Given the description of an element on the screen output the (x, y) to click on. 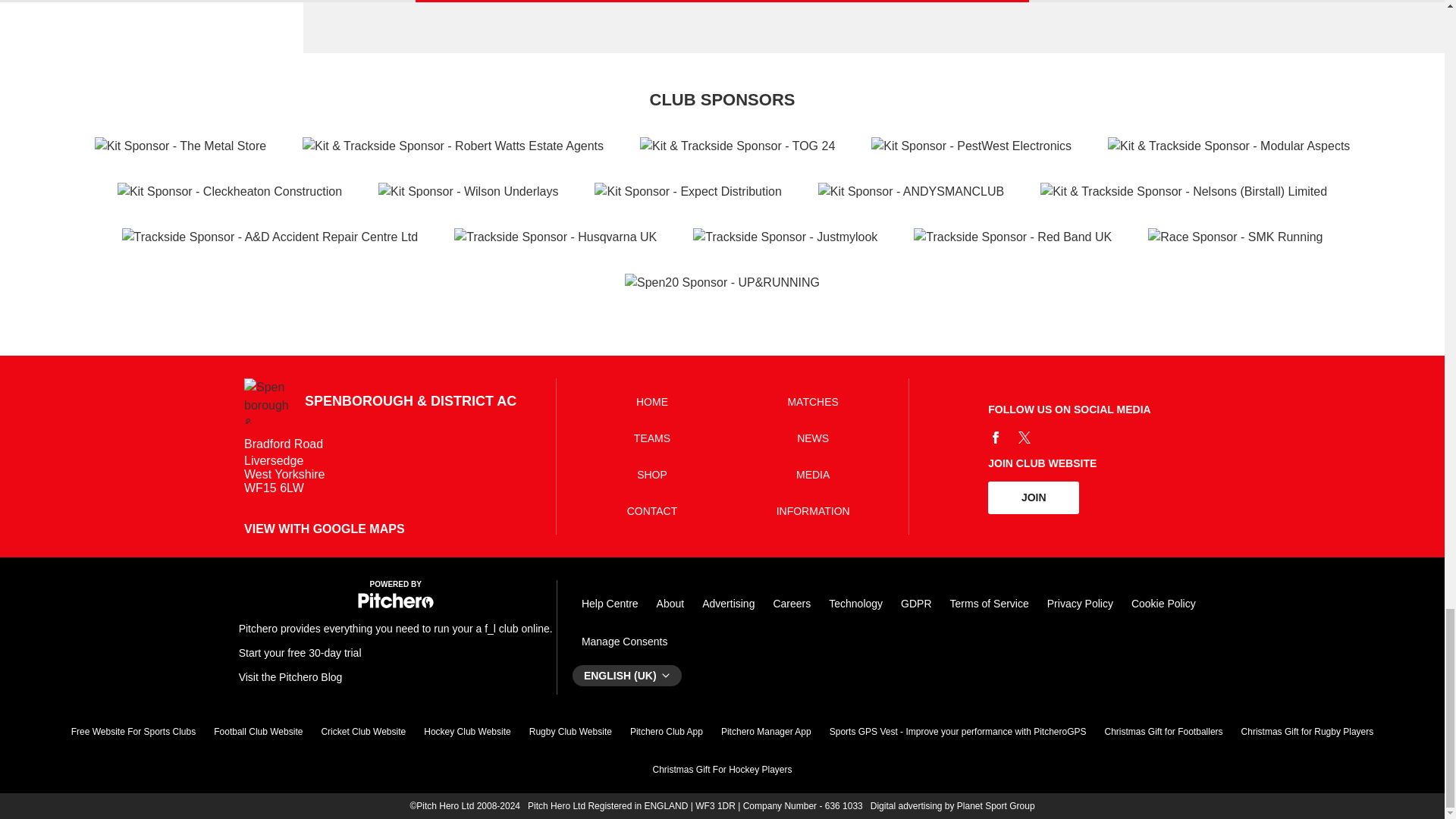
Trackside Sponsor - Red Band UK (1013, 237)
Kit Sponsor - ANDYSMANCLUB (911, 191)
Kit Sponsor - The Metal Store (180, 146)
Trackside Sponsor - Husqvarna UK (555, 237)
Trackside Sponsor - Justmylook (785, 237)
Kit Sponsor - Wilson Underlays (467, 191)
Kit Sponsor - Cleckheaton Construction (229, 191)
Kit Sponsor - PestWest Electronics (970, 146)
Kit Sponsor - Expect Distribution (687, 191)
